Given the description of an element on the screen output the (x, y) to click on. 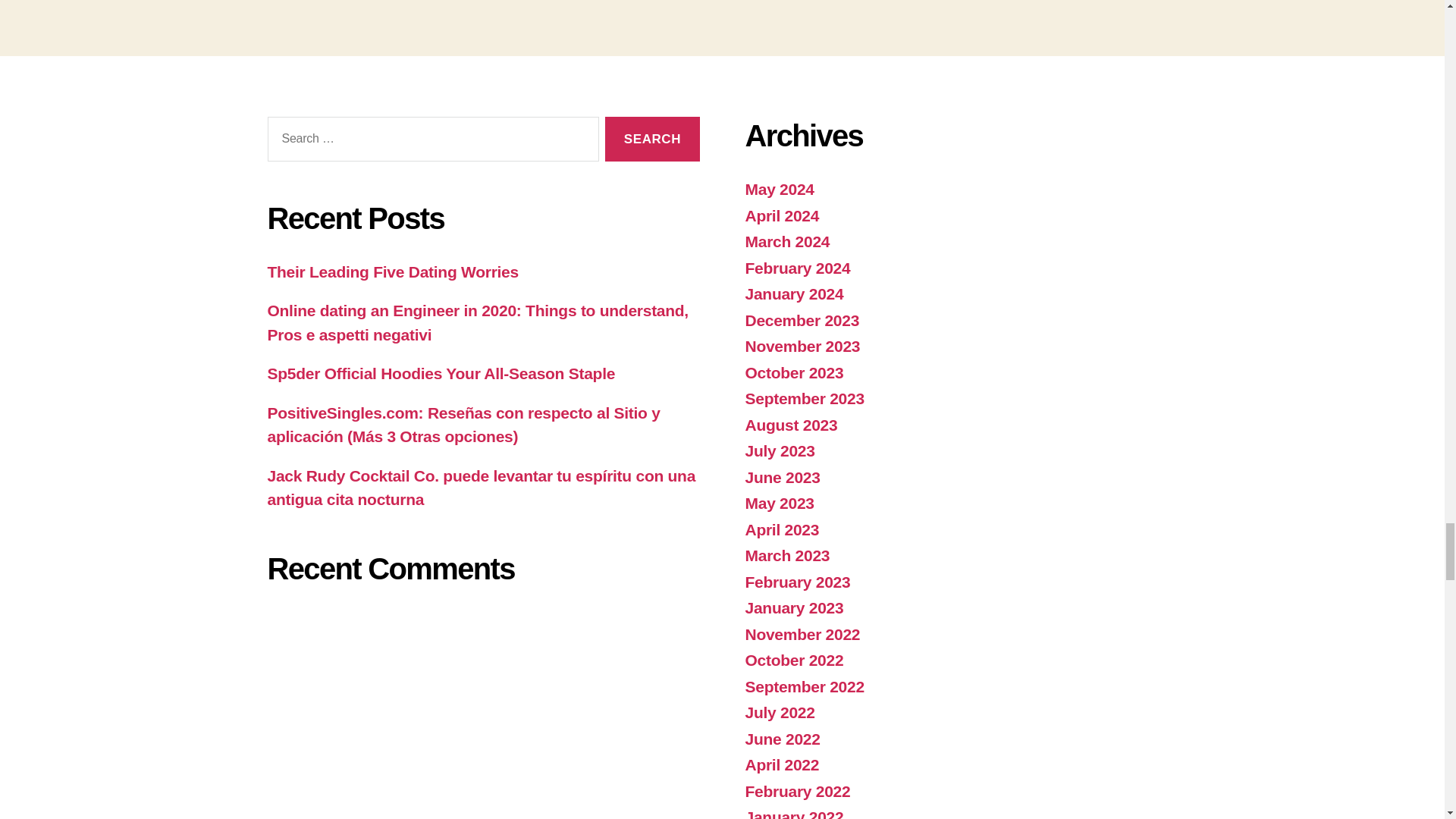
Search (651, 139)
March 2024 (786, 241)
May 2023 (778, 502)
July 2023 (778, 450)
Search (651, 139)
Their Leading Five Dating Worries (392, 271)
April 2024 (781, 215)
December 2023 (801, 320)
June 2023 (781, 477)
January 2024 (793, 293)
